Given the description of an element on the screen output the (x, y) to click on. 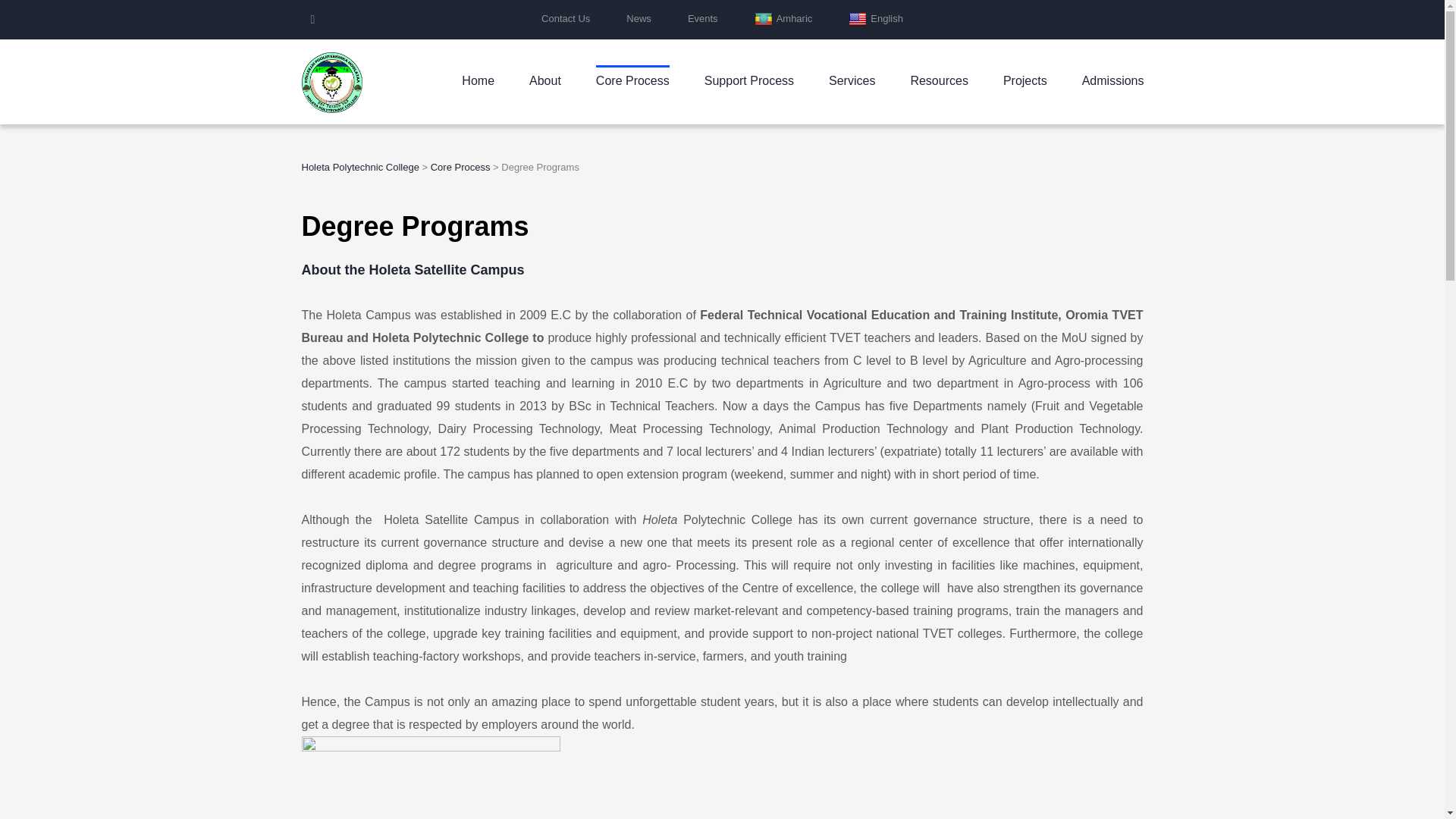
English (875, 18)
ArarsaDeraraBelemo (430, 777)
Support Process (748, 67)
Events (702, 18)
Contact Us (565, 18)
Amharic (783, 18)
English (875, 18)
News (638, 18)
Go to Holeta Polytechnic College. (360, 166)
Amharic (783, 18)
Go to Core Process. (460, 166)
Core Process (632, 67)
